Given the description of an element on the screen output the (x, y) to click on. 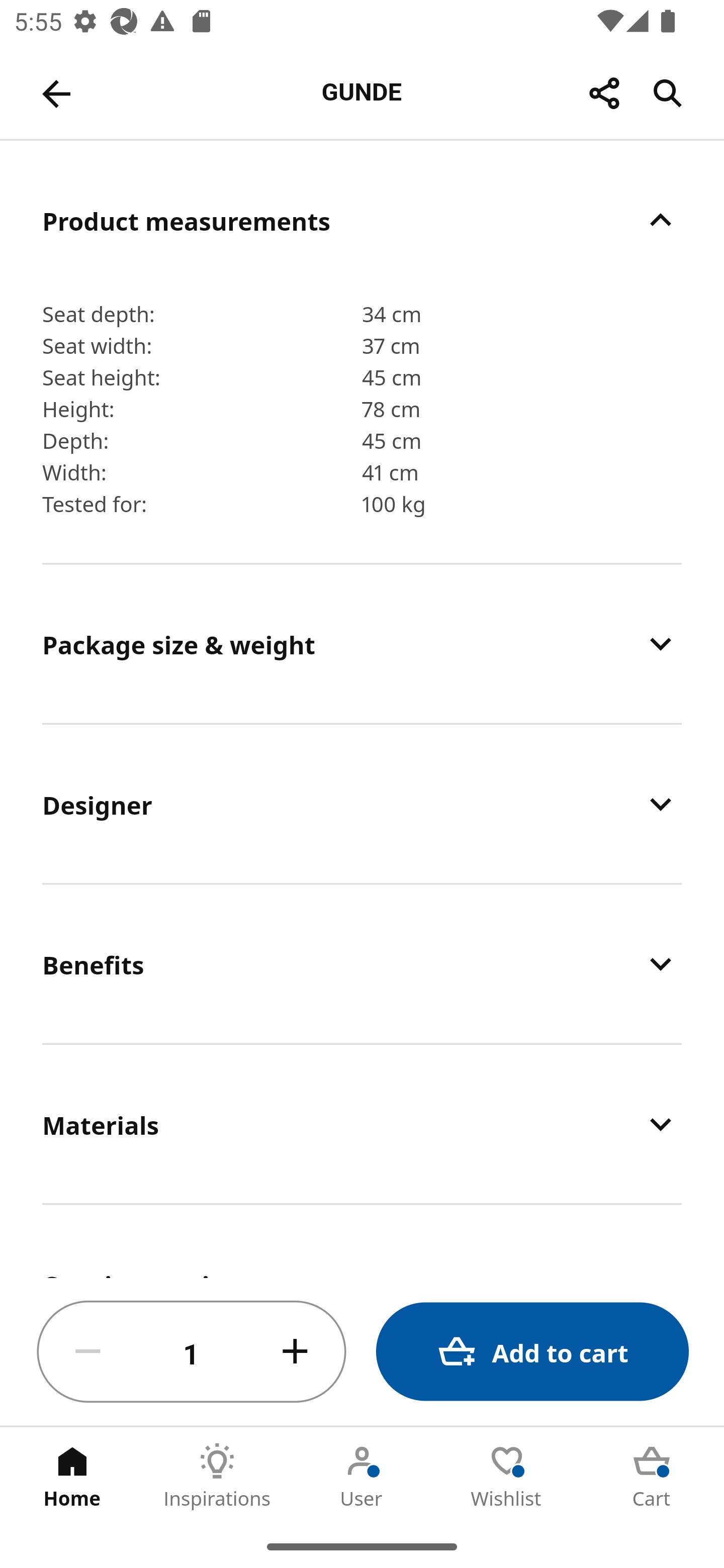
Product measurements (361, 219)
Package size & weight (361, 643)
Designer (361, 803)
Benefits (361, 963)
Materials (361, 1124)
Add to cart (531, 1352)
1 (191, 1352)
Home
Tab 1 of 5 (72, 1476)
Inspirations
Tab 2 of 5 (216, 1476)
User
Tab 3 of 5 (361, 1476)
Wishlist
Tab 4 of 5 (506, 1476)
Cart
Tab 5 of 5 (651, 1476)
